Given the description of an element on the screen output the (x, y) to click on. 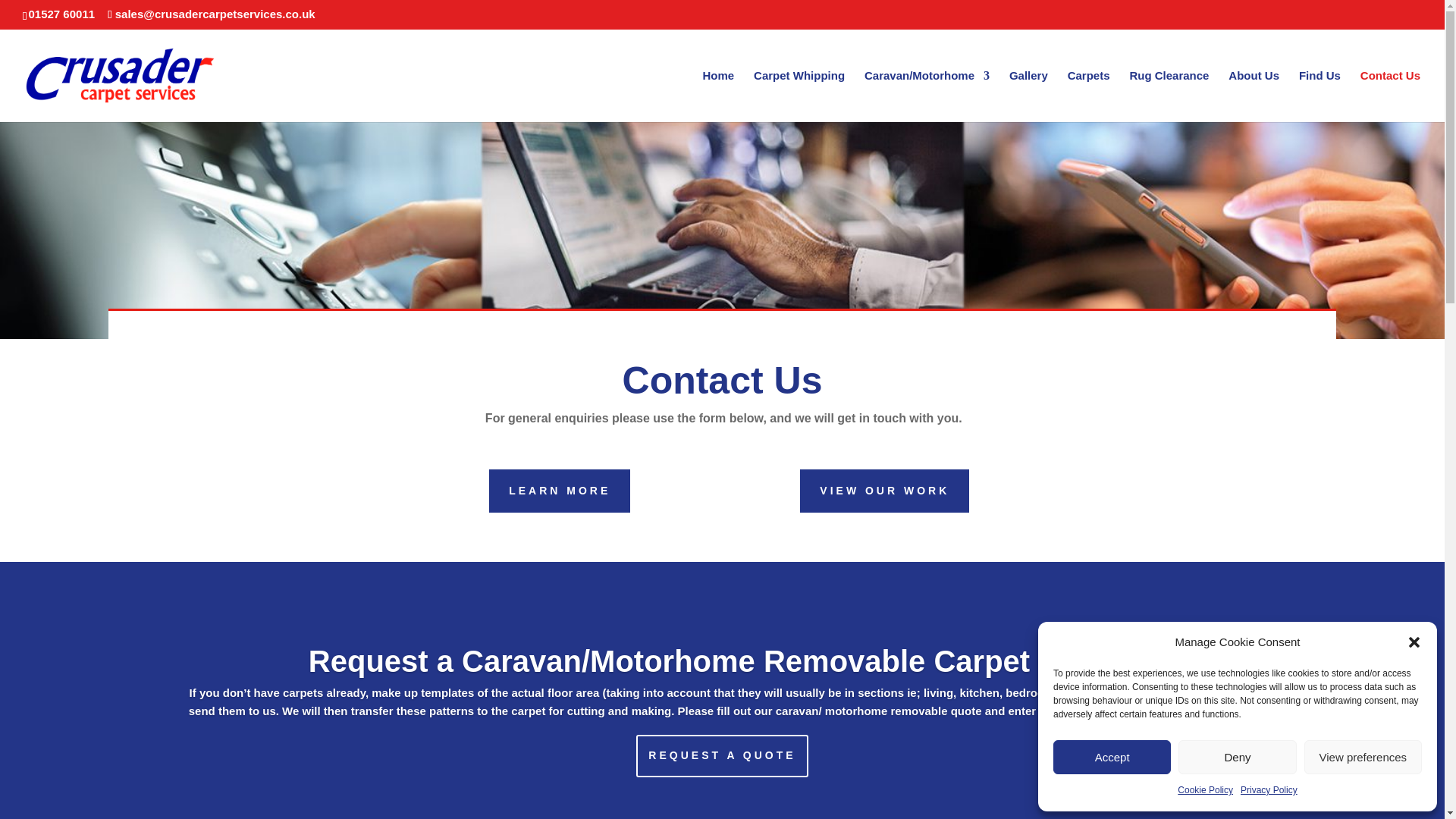
Privacy Policy (1268, 791)
Deny (1236, 756)
View preferences (1363, 756)
Accept (1111, 756)
VIEW OUR WORK (884, 490)
Cookie Policy (1205, 791)
Rug Clearance (1168, 95)
Carpet Whipping (799, 95)
Contact Us (1390, 95)
About Us (1253, 95)
LEARN MORE (559, 490)
